Given the description of an element on the screen output the (x, y) to click on. 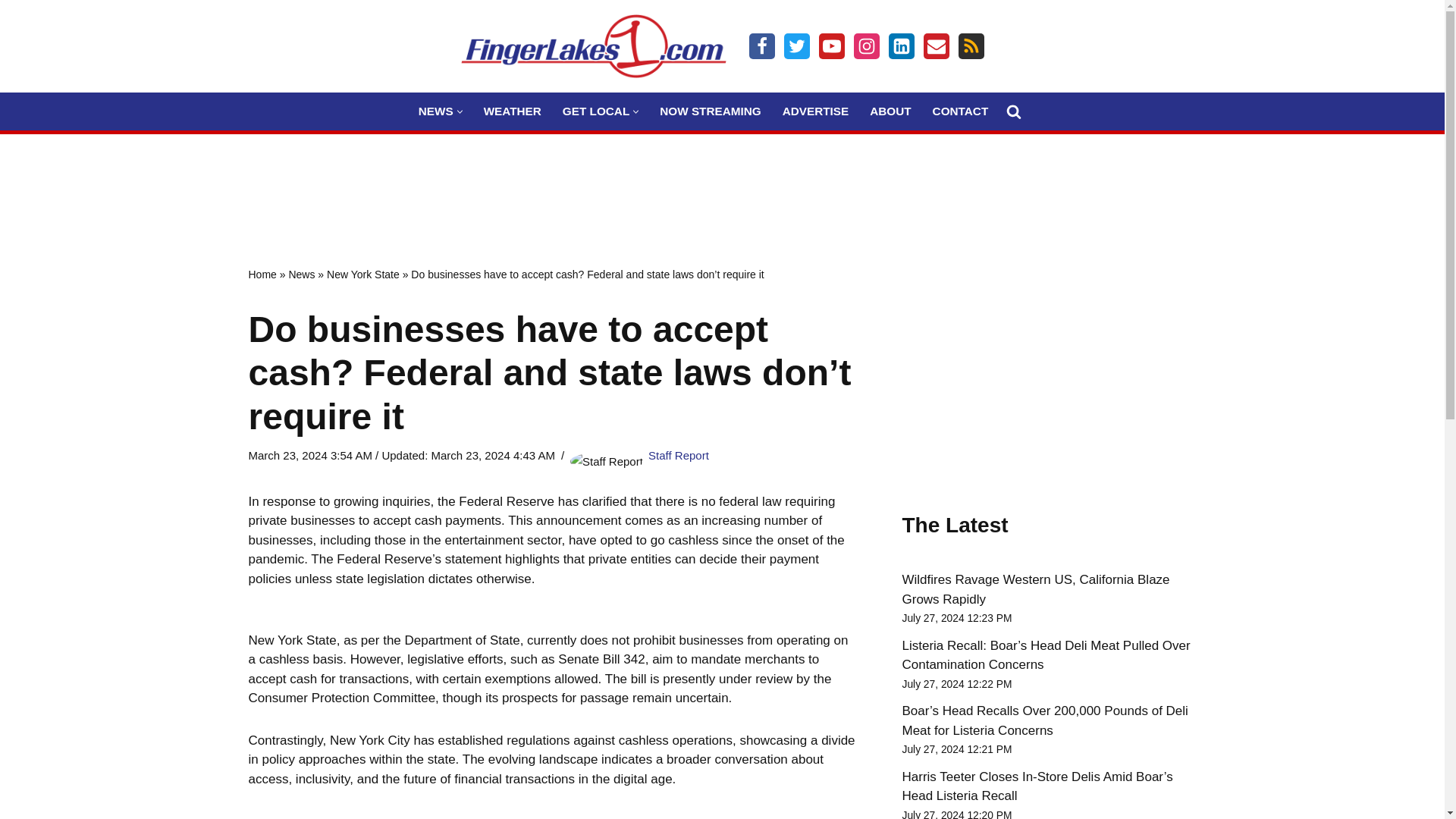
ABOUT (890, 111)
Posts by Staff Report (678, 454)
Skip to content (11, 31)
Feed (971, 45)
GET LOCAL (595, 111)
Twitter (796, 45)
Facebook (761, 45)
LinkIn (901, 45)
WEATHER (512, 111)
Youtube (831, 45)
NOW STREAMING (709, 111)
CONTACT (960, 111)
Email Us (936, 45)
Instagram (866, 45)
ADVERTISE (815, 111)
